Given the description of an element on the screen output the (x, y) to click on. 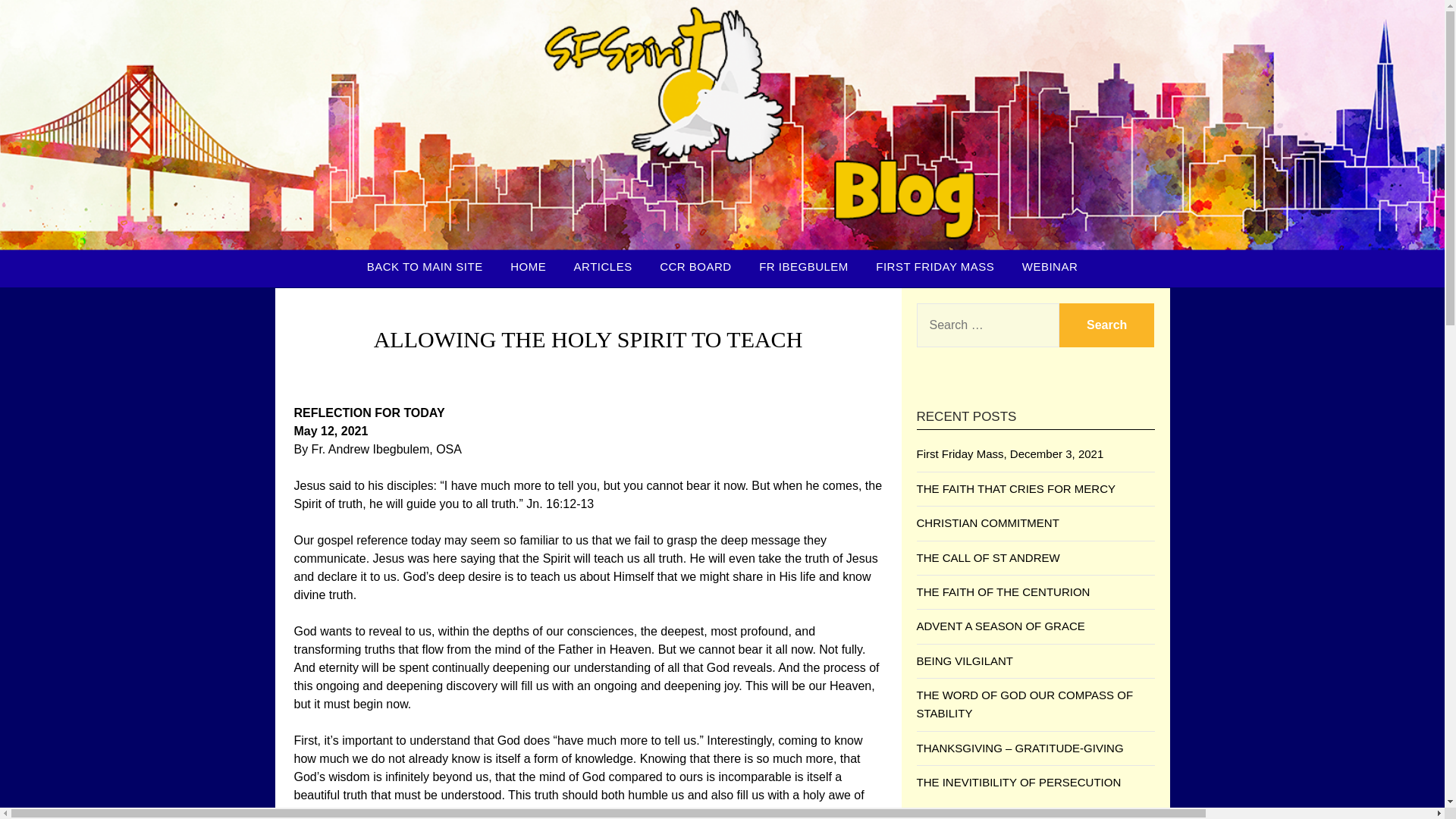
CHRISTIAN COMMITMENT (986, 522)
HOME (527, 266)
FIRST FRIDAY MASS (934, 266)
THE FAITH THAT CRIES FOR MERCY (1015, 488)
Search (1106, 325)
First Friday Mass, December 3, 2021 (1009, 453)
CCR BOARD (695, 266)
BEING VILGILANT (964, 660)
ADVENT A SEASON OF GRACE (999, 625)
Search (1106, 325)
ARTICLES (603, 266)
THE INEVITIBILITY OF PERSECUTION (1018, 781)
FR IBEGBULEM (803, 266)
THE FAITH OF THE CENTURION (1002, 591)
Search (1106, 325)
